Given the description of an element on the screen output the (x, y) to click on. 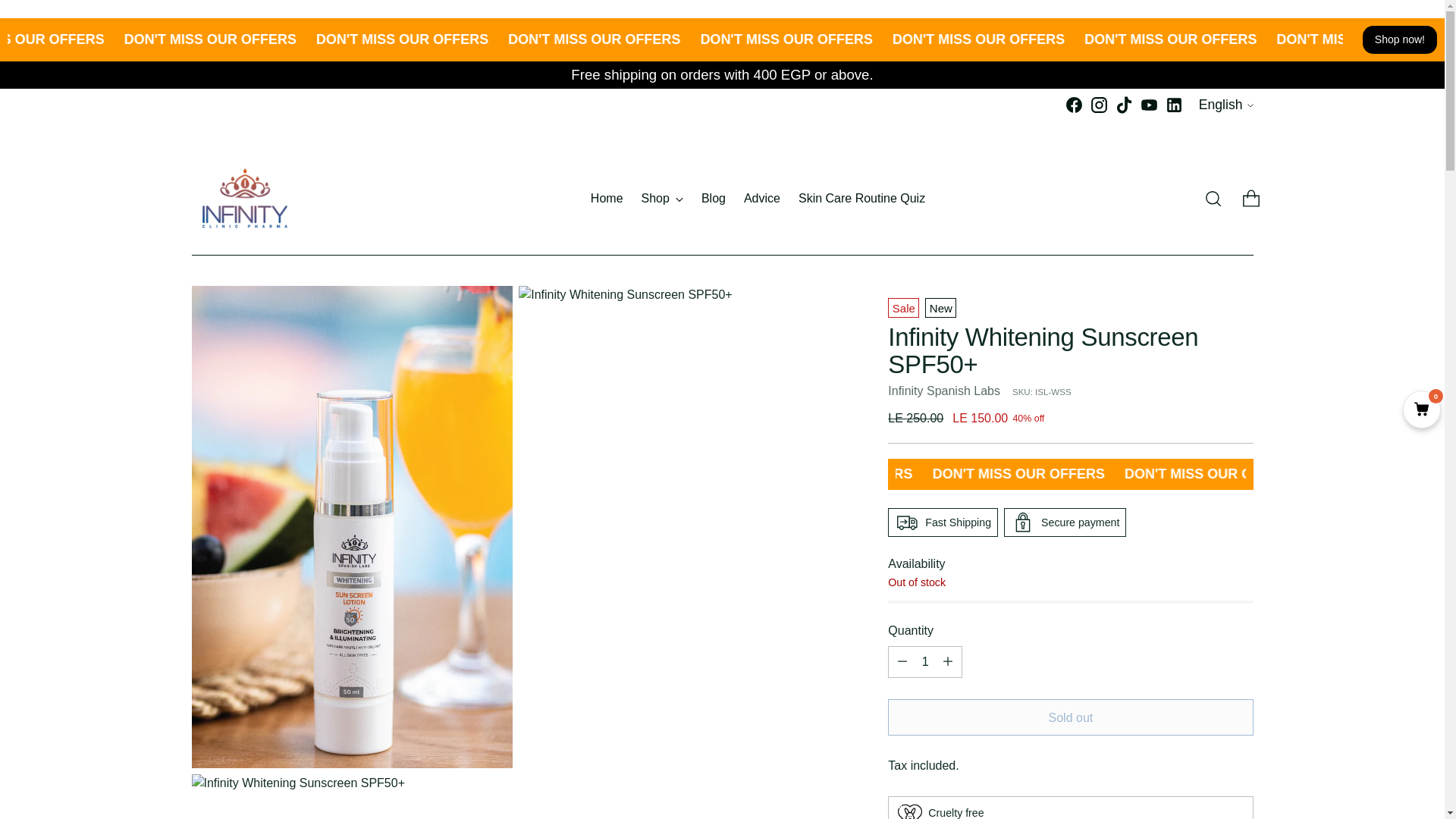
1 (925, 662)
Infinity Spanish Labs (944, 390)
Infinity Clinic Pharma on YouTube (1149, 104)
Infinity Clinic Pharma on LinkedIn (1173, 104)
Shop (662, 198)
Infinity Clinic Pharma on Tiktok (1124, 104)
Infinity Clinic Pharma on Instagram (1098, 104)
Home (607, 198)
Infinity Clinic Pharma on Facebook (1073, 104)
English (757, 197)
Shop now! (1225, 105)
